Given the description of an element on the screen output the (x, y) to click on. 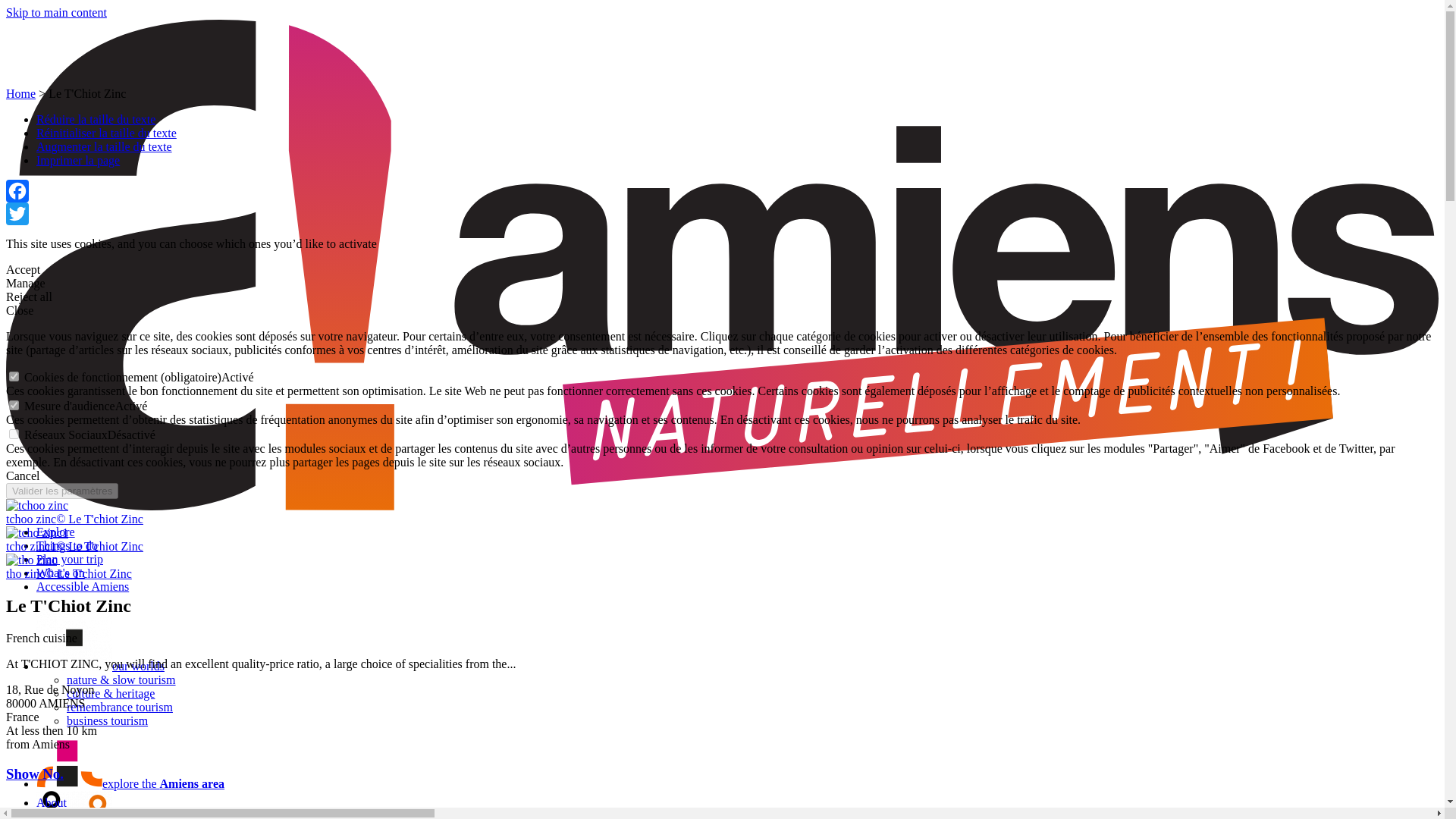
Plan your trip (69, 558)
1 (13, 433)
What's on (60, 572)
1 (13, 376)
Things to do (66, 545)
Skip to main content (55, 11)
Accessible Amiens (82, 585)
remembrance tourism (119, 707)
business tourism (107, 720)
Augmenter la taille du texte (103, 146)
1 (13, 405)
tchoo zinc (36, 505)
Imprimer la page (77, 160)
tcho zinc1 (36, 532)
